Given the description of an element on the screen output the (x, y) to click on. 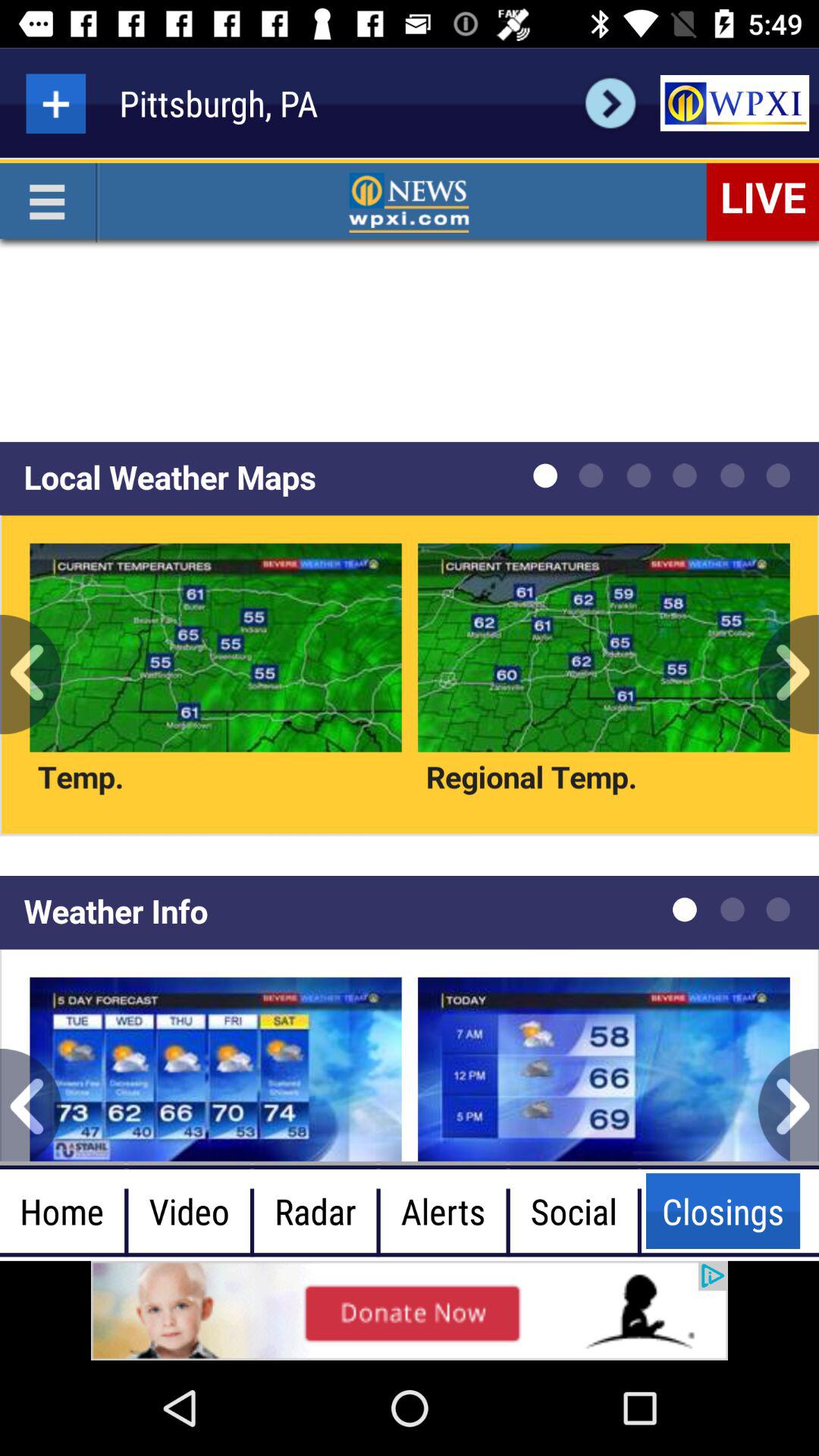
showing the advertisement (409, 1310)
